Given the description of an element on the screen output the (x, y) to click on. 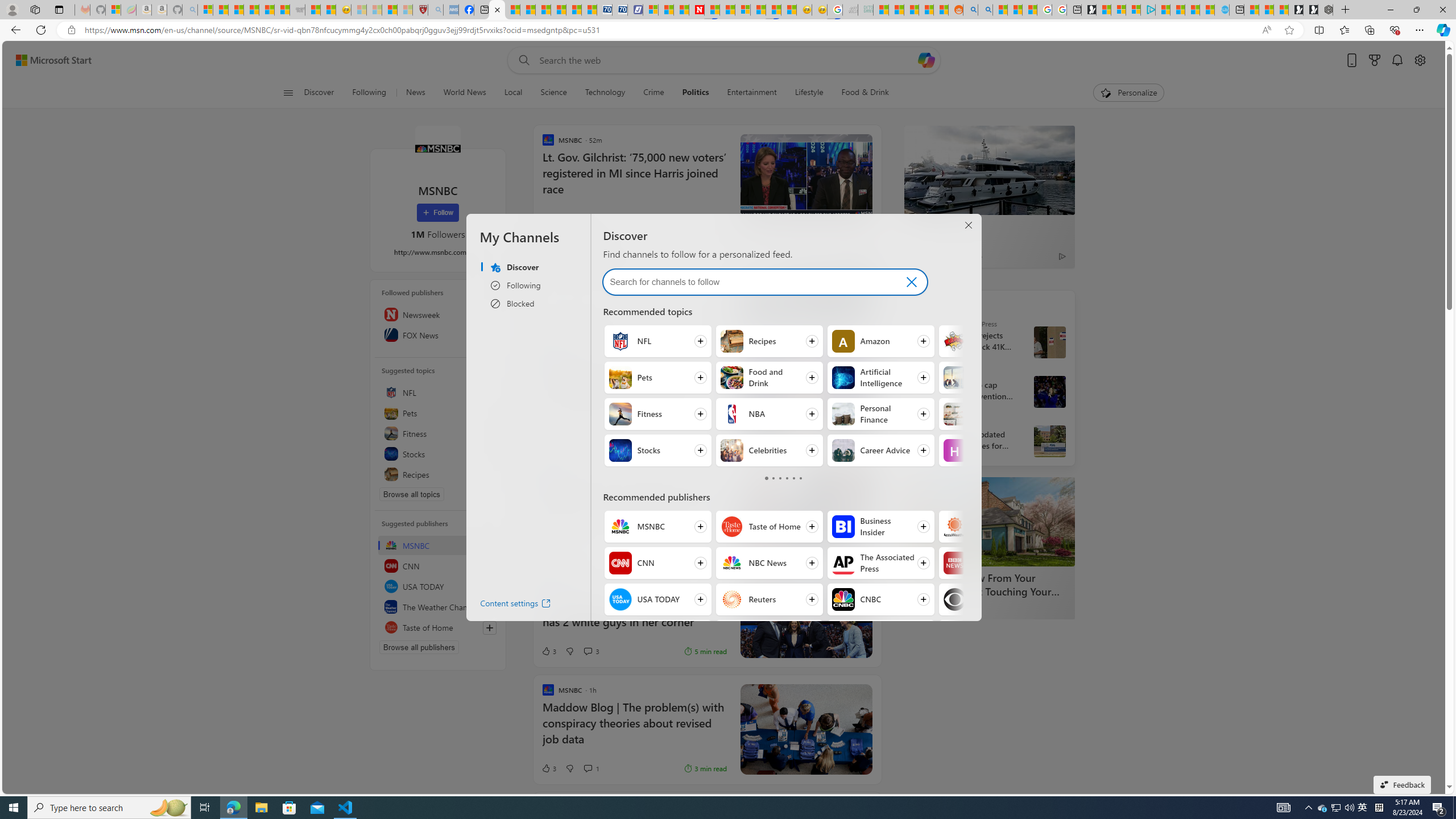
Follow AccuWeather (992, 526)
NFL (437, 392)
Feedback (1402, 784)
NBC News (732, 563)
Open navigation menu (287, 92)
Home Decor (954, 413)
Follow (437, 212)
Class: tab-no-click tab  (799, 478)
Navy Quest (850, 9)
Recipes - MSN - Sleeping (358, 9)
ABC News (927, 422)
Start the conversation (587, 549)
Technology (605, 92)
14 Common Myths Debunked By Scientific Facts (726, 9)
